Given the description of an element on the screen output the (x, y) to click on. 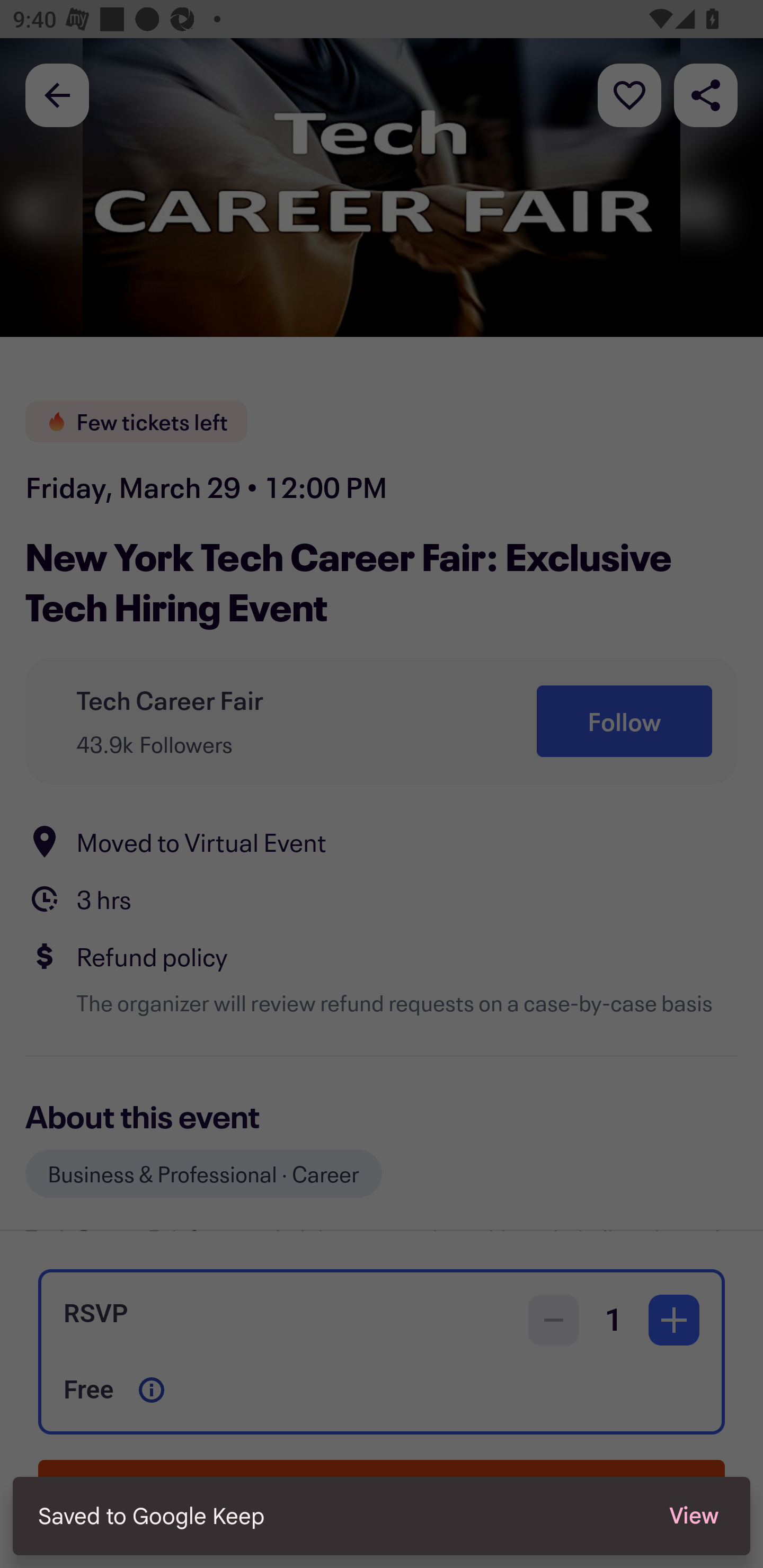
View (693, 1515)
